Given the description of an element on the screen output the (x, y) to click on. 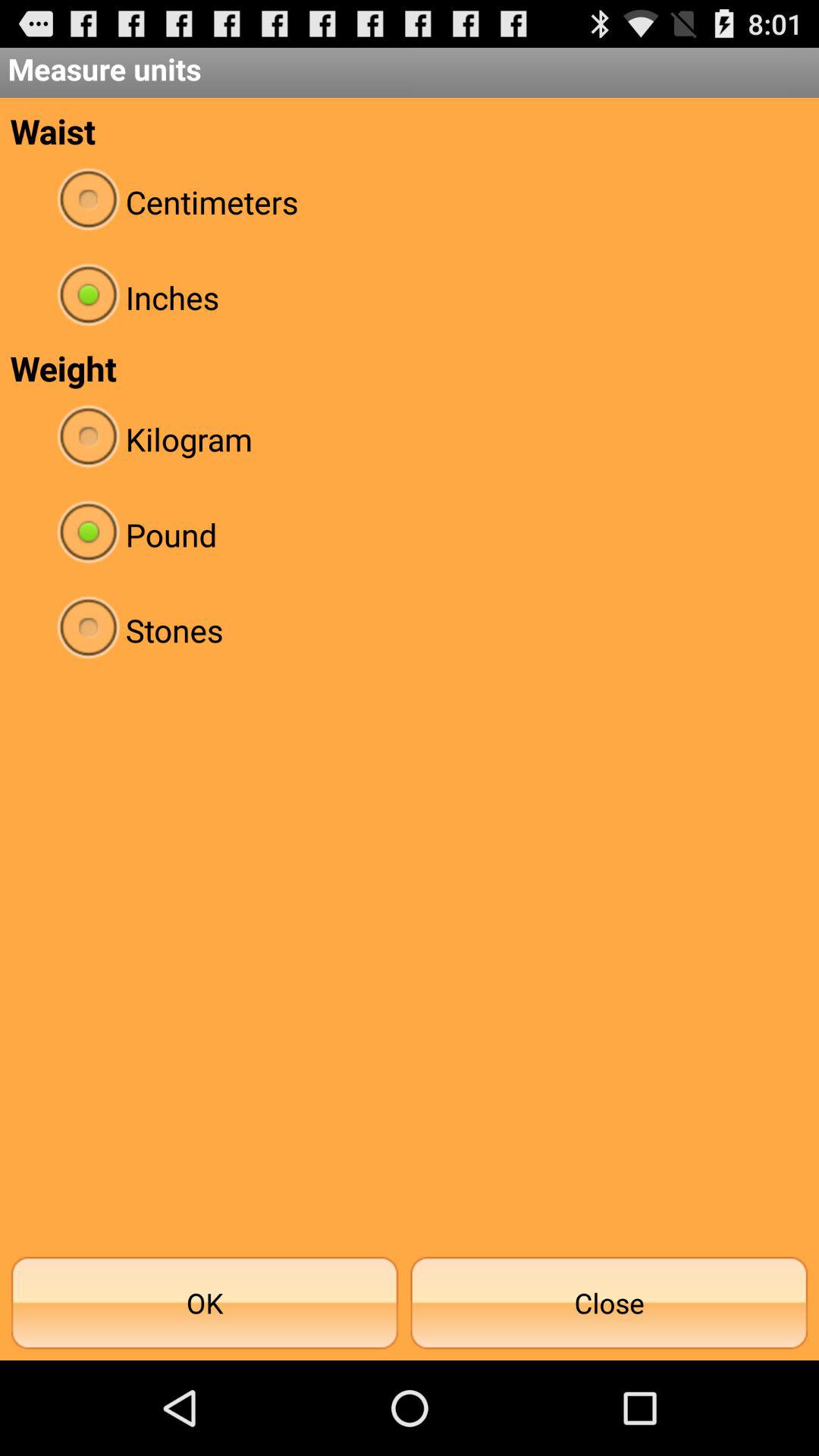
select the button above ok icon (409, 629)
